Given the description of an element on the screen output the (x, y) to click on. 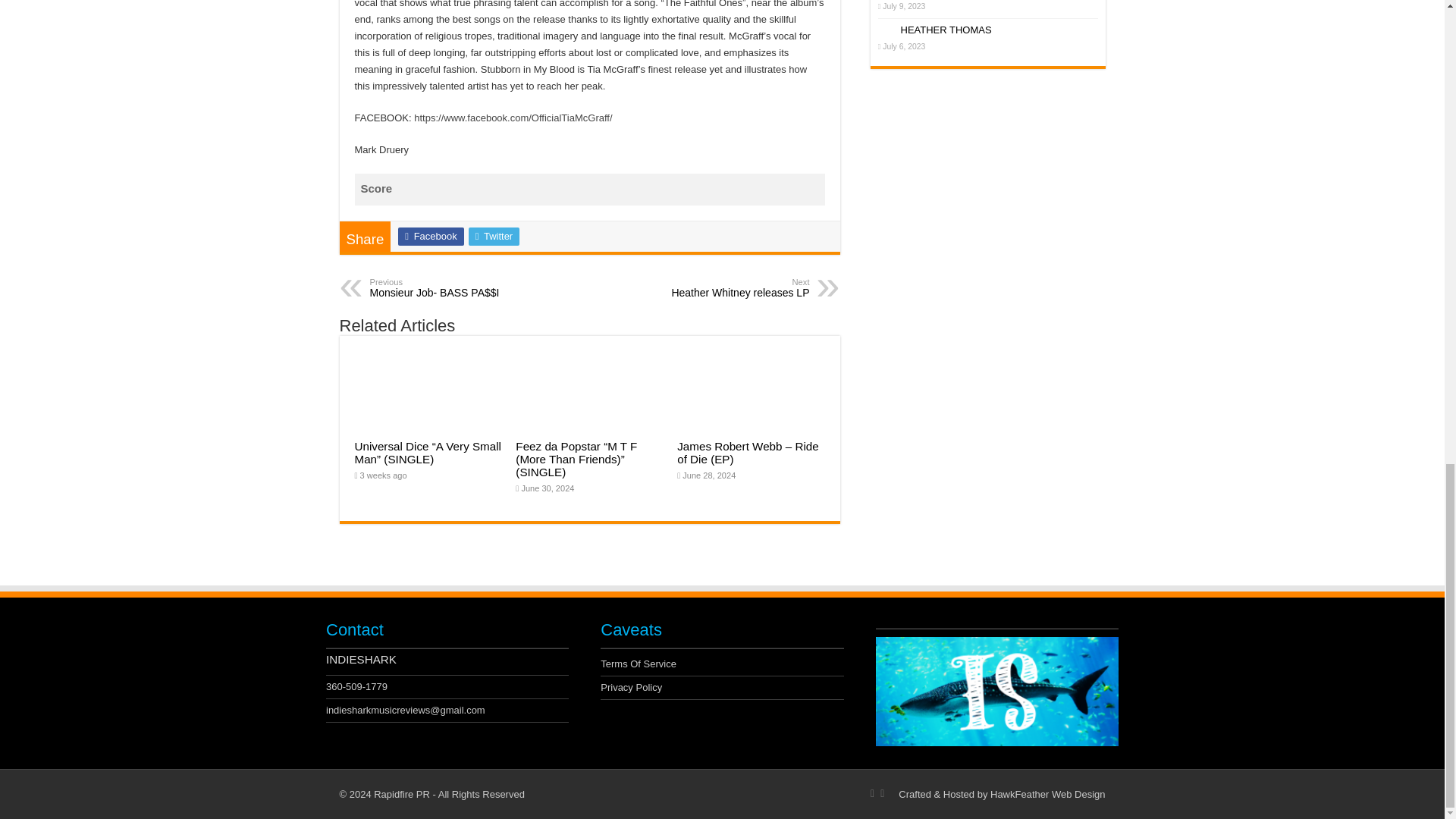
Facebook (430, 236)
Twitter (493, 236)
